Given the description of an element on the screen output the (x, y) to click on. 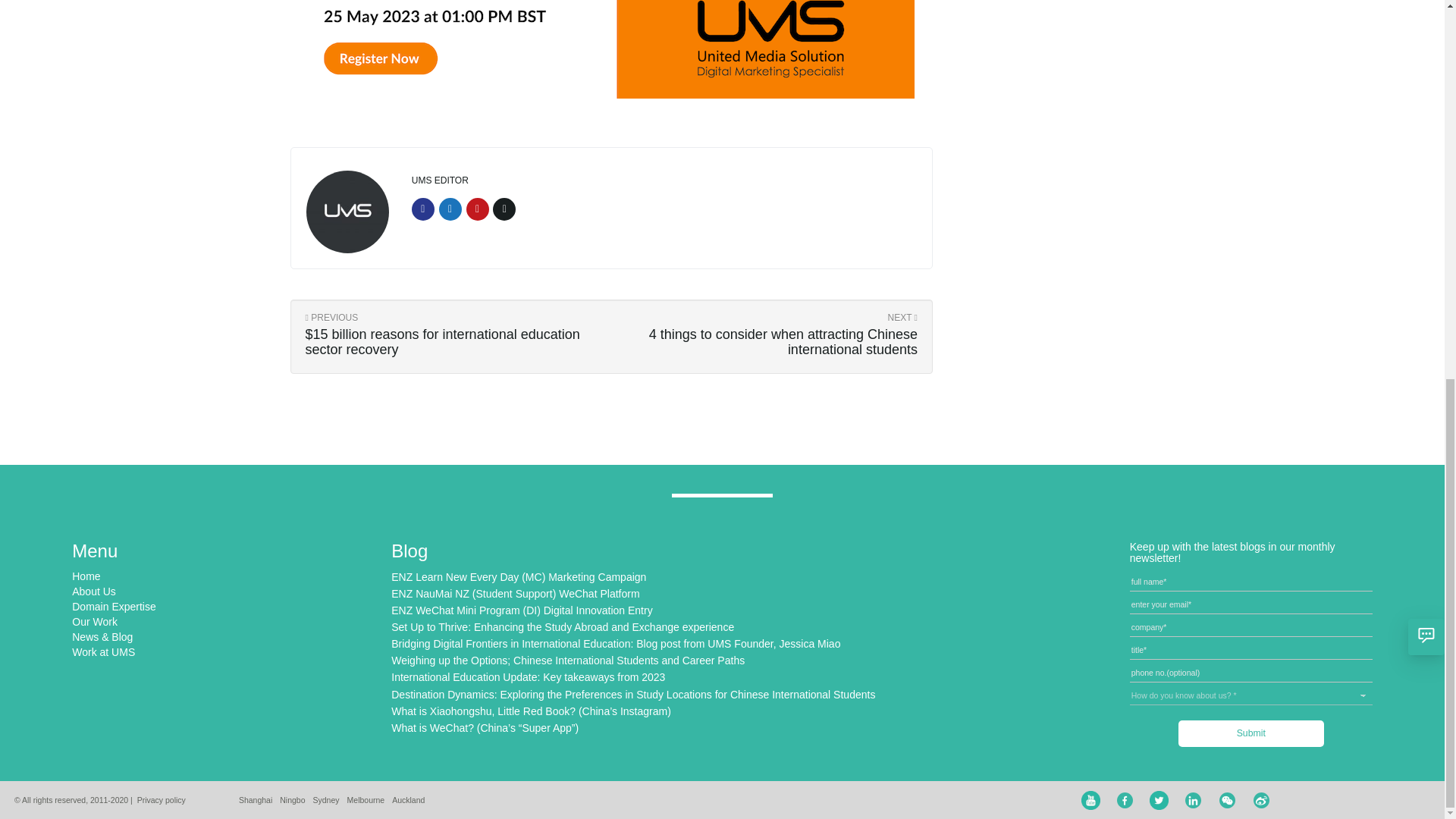
Weibo (1261, 800)
wechat (1226, 800)
